Given the description of an element on the screen output the (x, y) to click on. 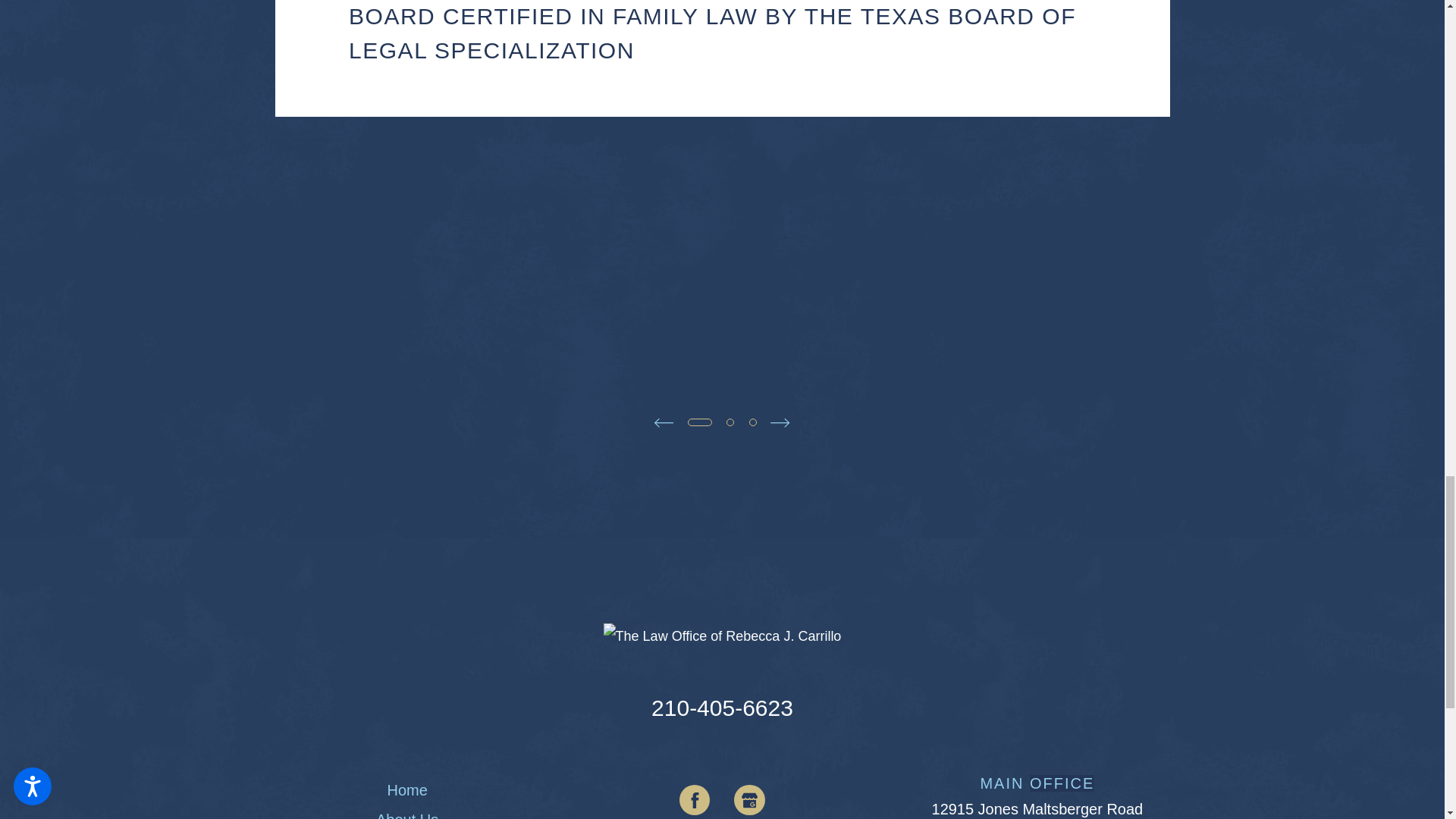
2018 client champion gold martindale Hubbell (255, 300)
Rising Stars (877, 300)
Super Lawyers 2019 (567, 300)
Best S.A. Lawyers 2019 (1189, 300)
View previous item (662, 422)
